Given the description of an element on the screen output the (x, y) to click on. 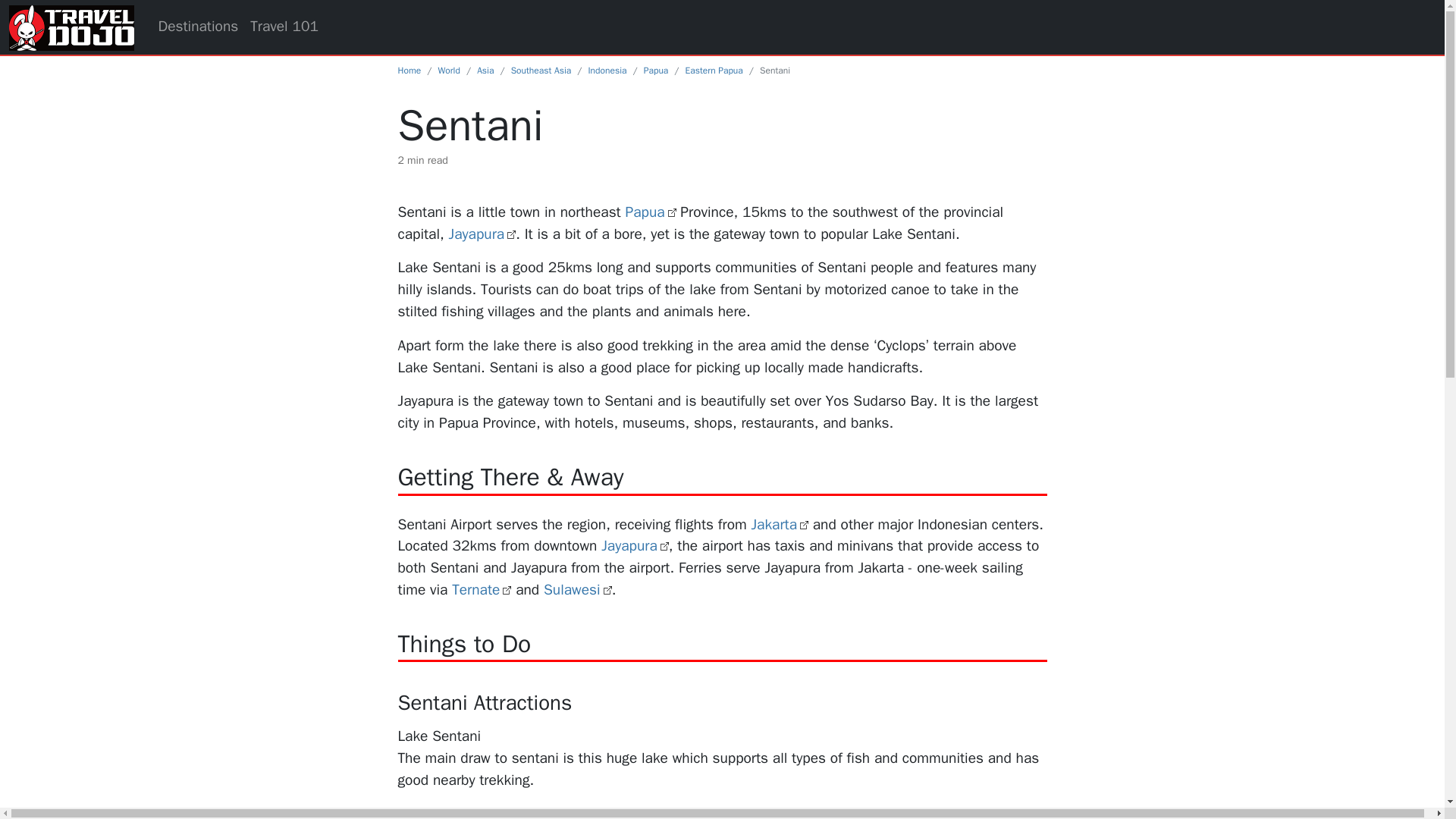
Papua (649, 212)
Ternate (481, 589)
Jayapura (634, 546)
Jayapura (482, 234)
Sulawesi (577, 589)
Asia (485, 70)
Papua (655, 70)
Destinations (197, 26)
Jakarta (779, 524)
World (449, 70)
